Given the description of an element on the screen output the (x, y) to click on. 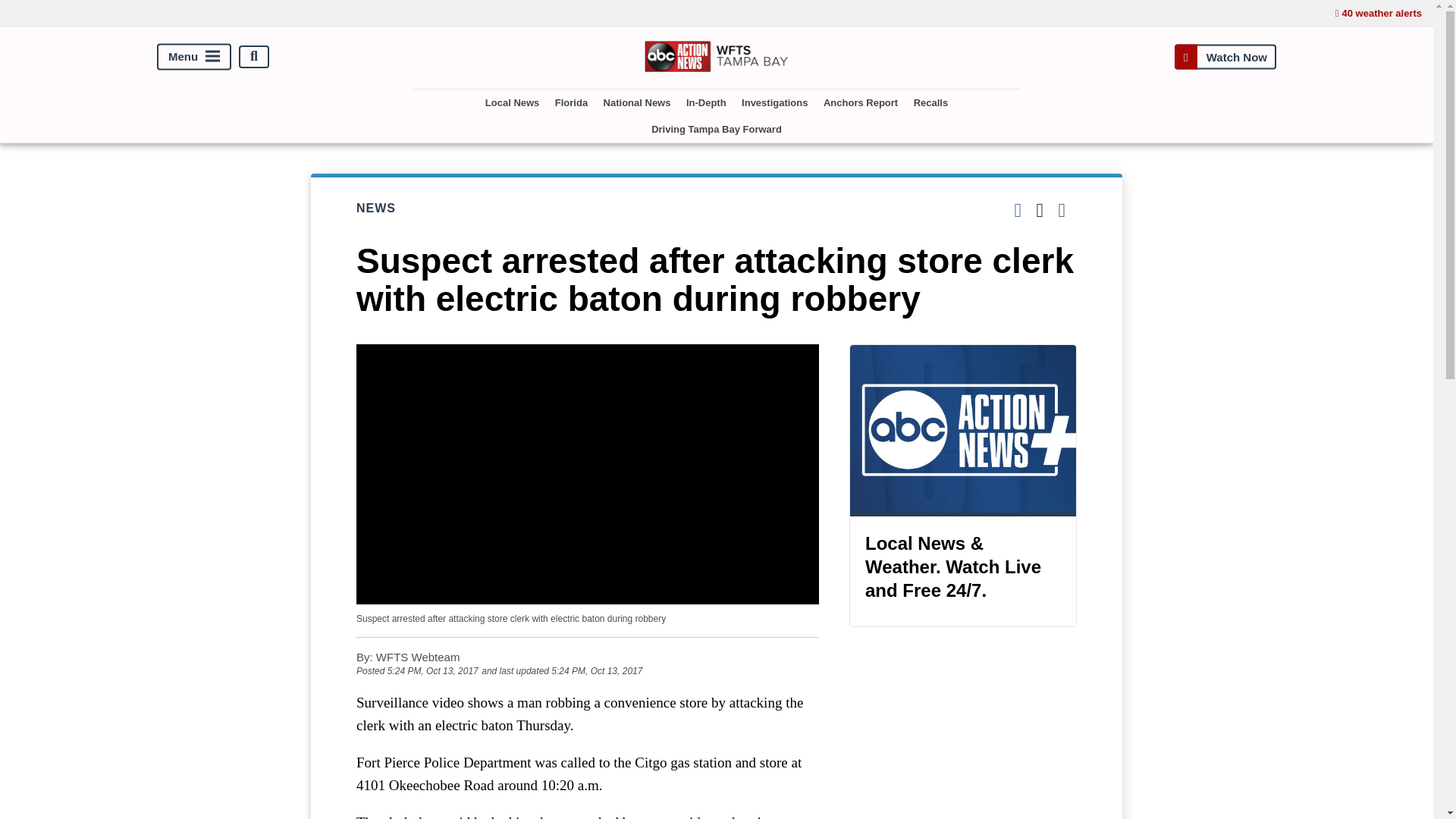
Watch Now (1224, 56)
Menu (194, 56)
